Given the description of an element on the screen output the (x, y) to click on. 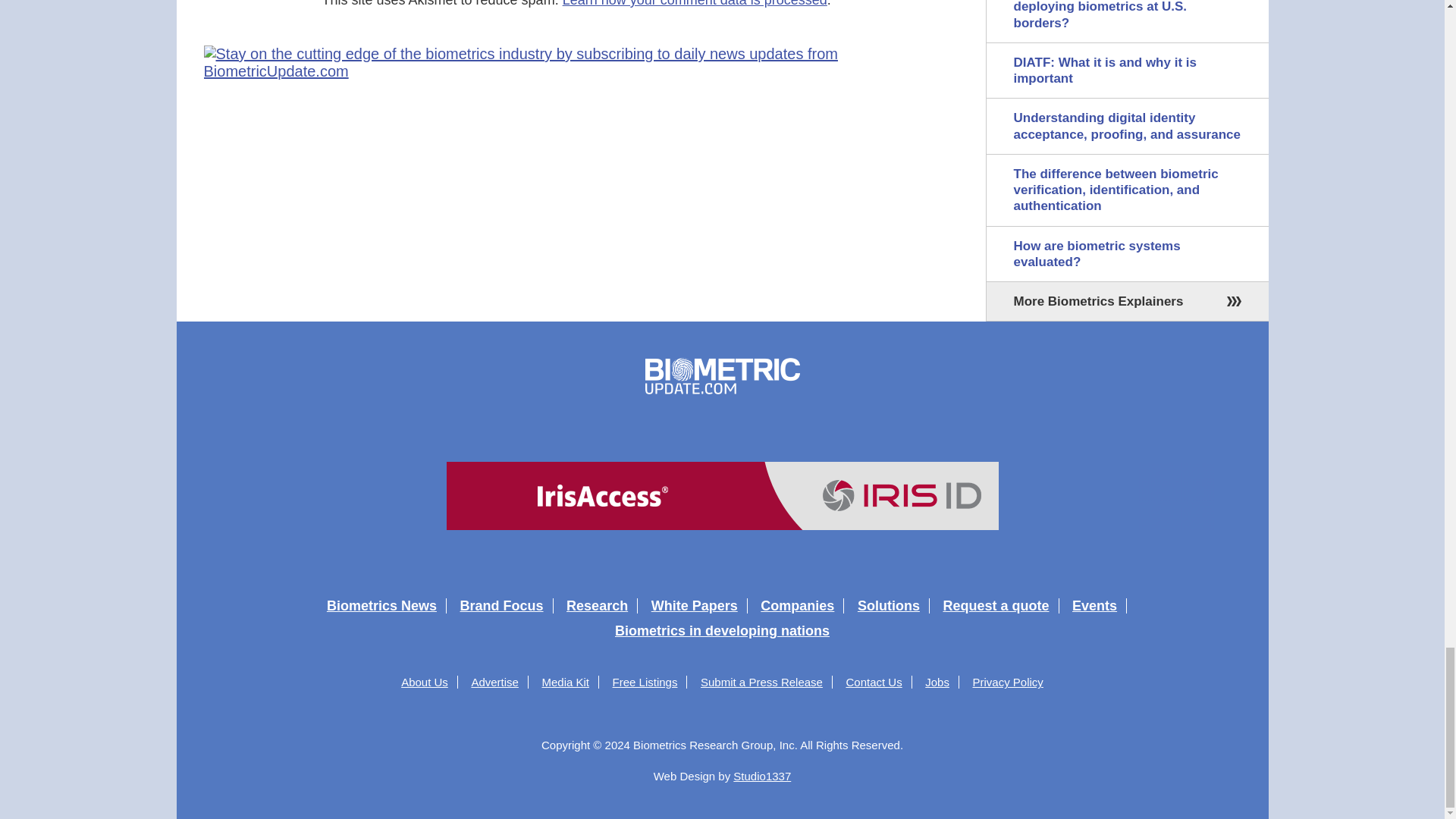
3rd party ad content (721, 495)
